Given the description of an element on the screen output the (x, y) to click on. 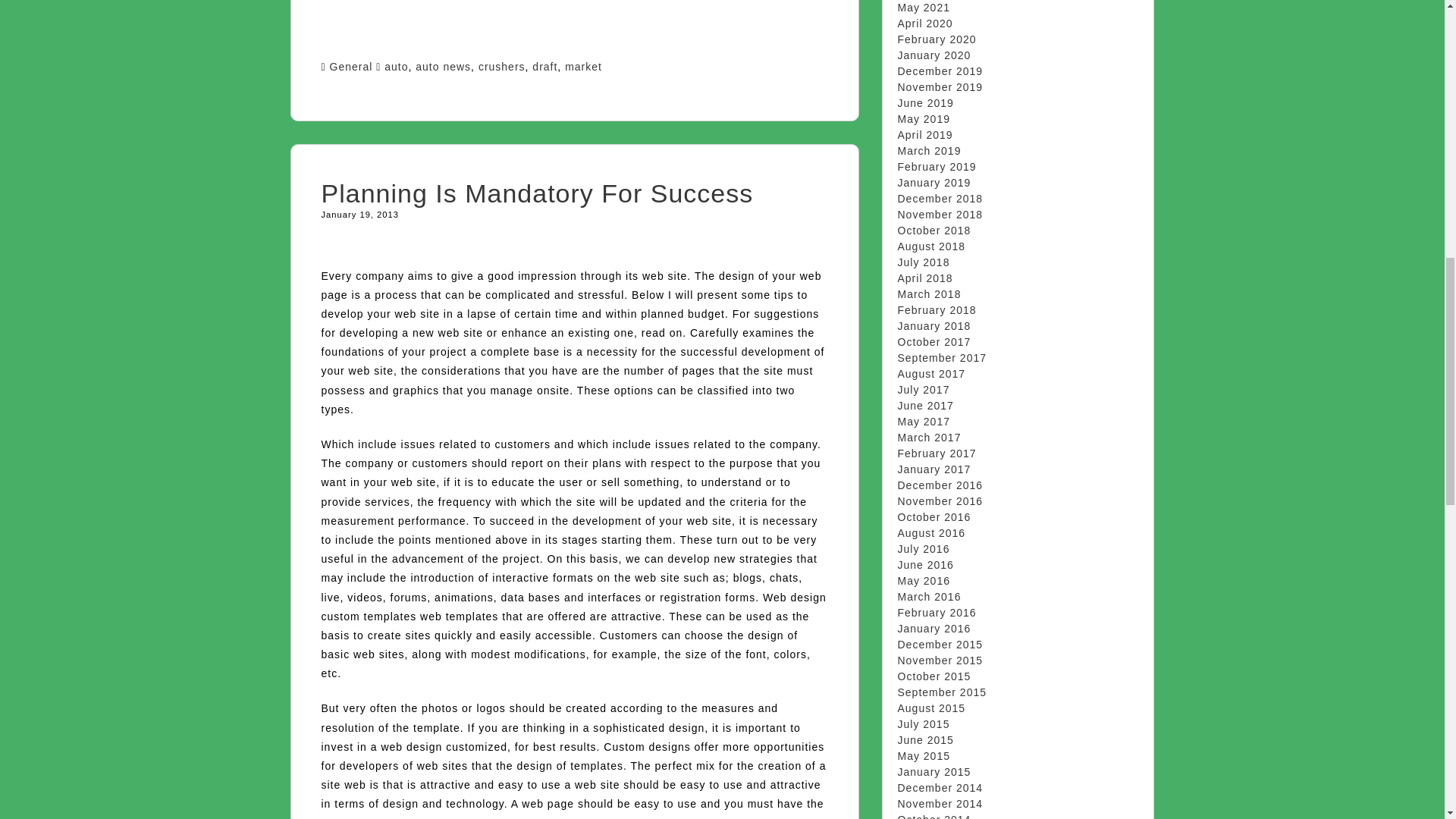
January 2020 (934, 55)
market (583, 66)
May 2019 (924, 119)
Planning Is Mandatory For Success (537, 193)
auto (395, 66)
February 2020 (937, 39)
April 2019 (925, 134)
May 2021 (924, 7)
March 2019 (929, 150)
November 2019 (941, 87)
December 2019 (941, 70)
April 2020 (925, 23)
June 2019 (925, 102)
crushers (502, 66)
General (351, 66)
